Given the description of an element on the screen output the (x, y) to click on. 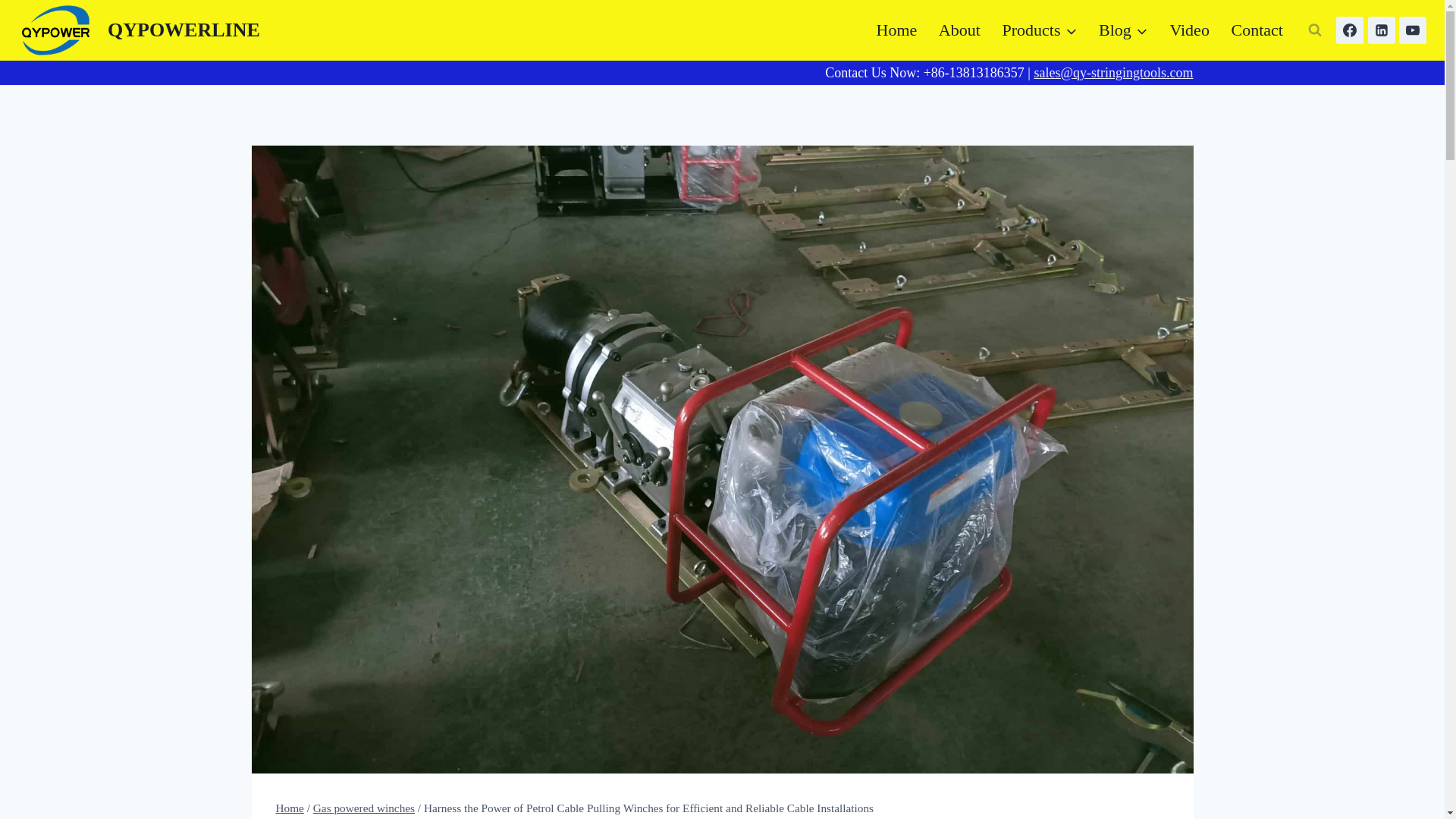
Products (1039, 29)
QYPOWERLINE (138, 29)
Home (895, 29)
Blog (1122, 29)
About (959, 29)
